Given the description of an element on the screen output the (x, y) to click on. 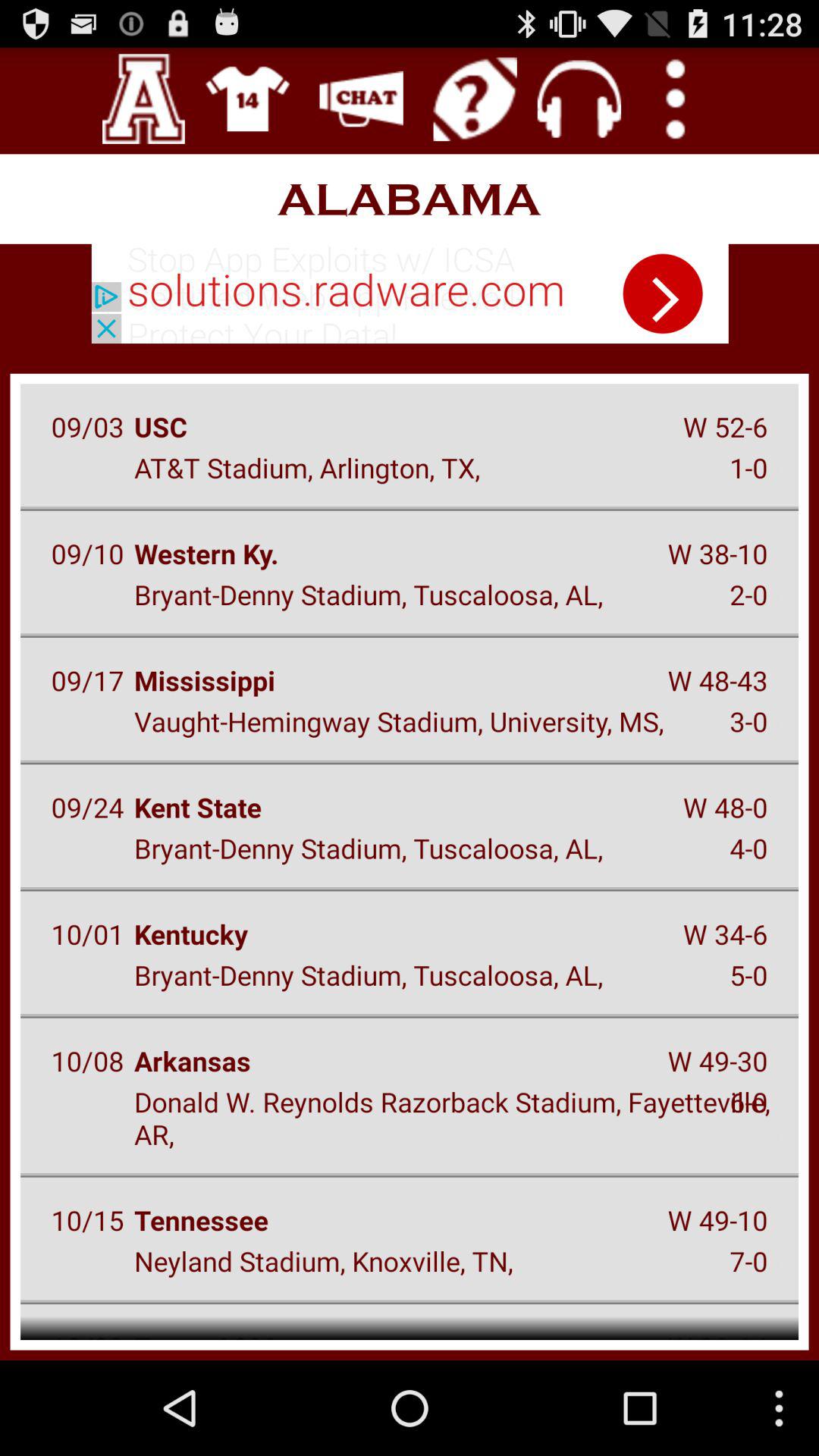
click on right of earphone symbol (675, 98)
